Given the description of an element on the screen output the (x, y) to click on. 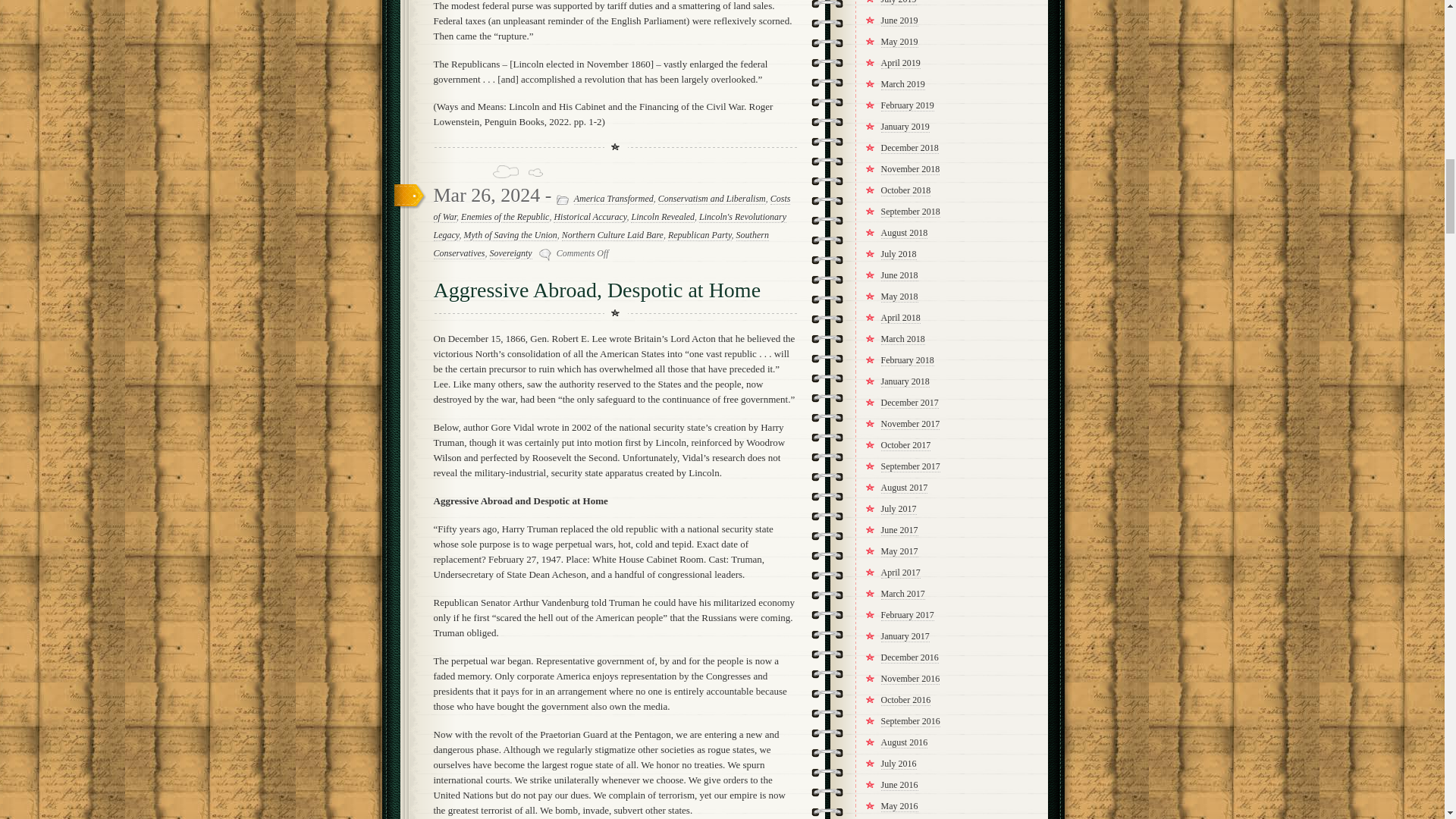
Conservatism and Liberalism (711, 198)
Lincoln Revealed (662, 216)
Costs of War (611, 207)
Historical Accuracy (589, 216)
Enemies of the Republic (504, 216)
America Transformed (613, 198)
